Given the description of an element on the screen output the (x, y) to click on. 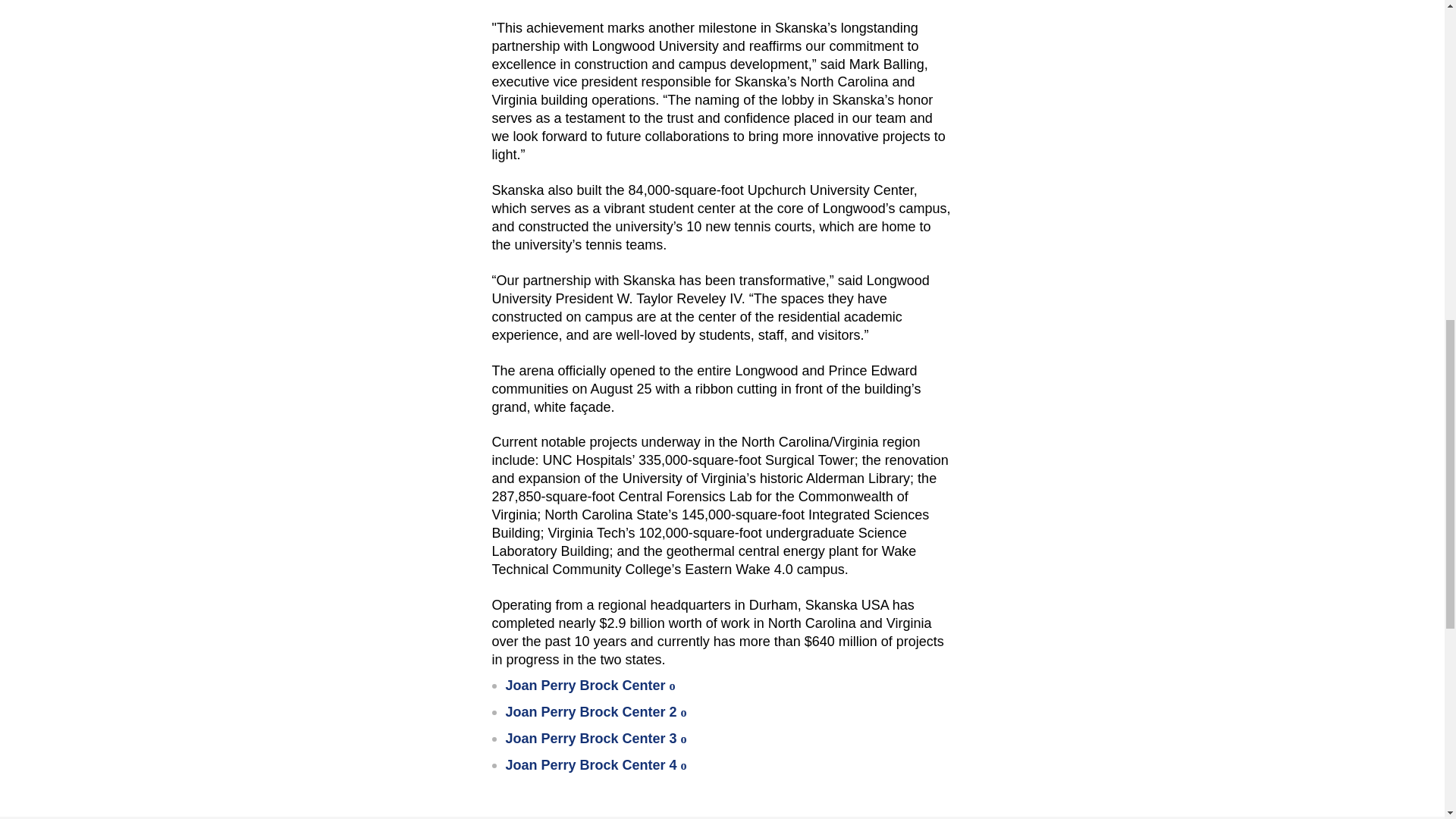
Back to top (1366, 30)
